Given the description of an element on the screen output the (x, y) to click on. 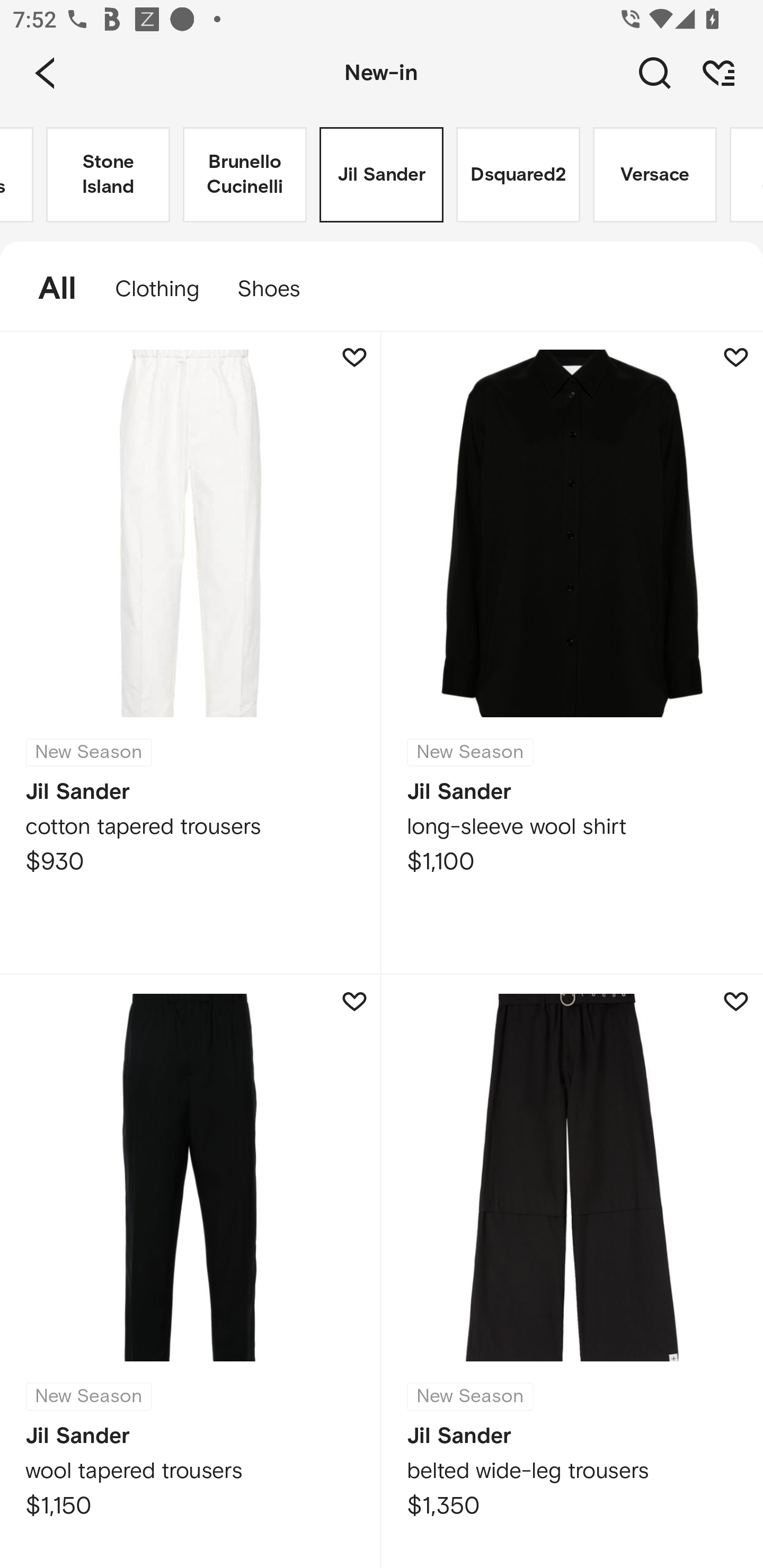
Stone Island (107, 174)
Brunello Cucinelli (244, 174)
Jil Sander (381, 174)
Dsquared2 (517, 174)
Versace (654, 174)
All (47, 288)
Clothing (156, 288)
Shoes (278, 288)
New Season Jil Sander cotton tapered trousers $930 (190, 652)
New Season Jil Sander wool tapered trousers $1,150 (190, 1271)
